Given the description of an element on the screen output the (x, y) to click on. 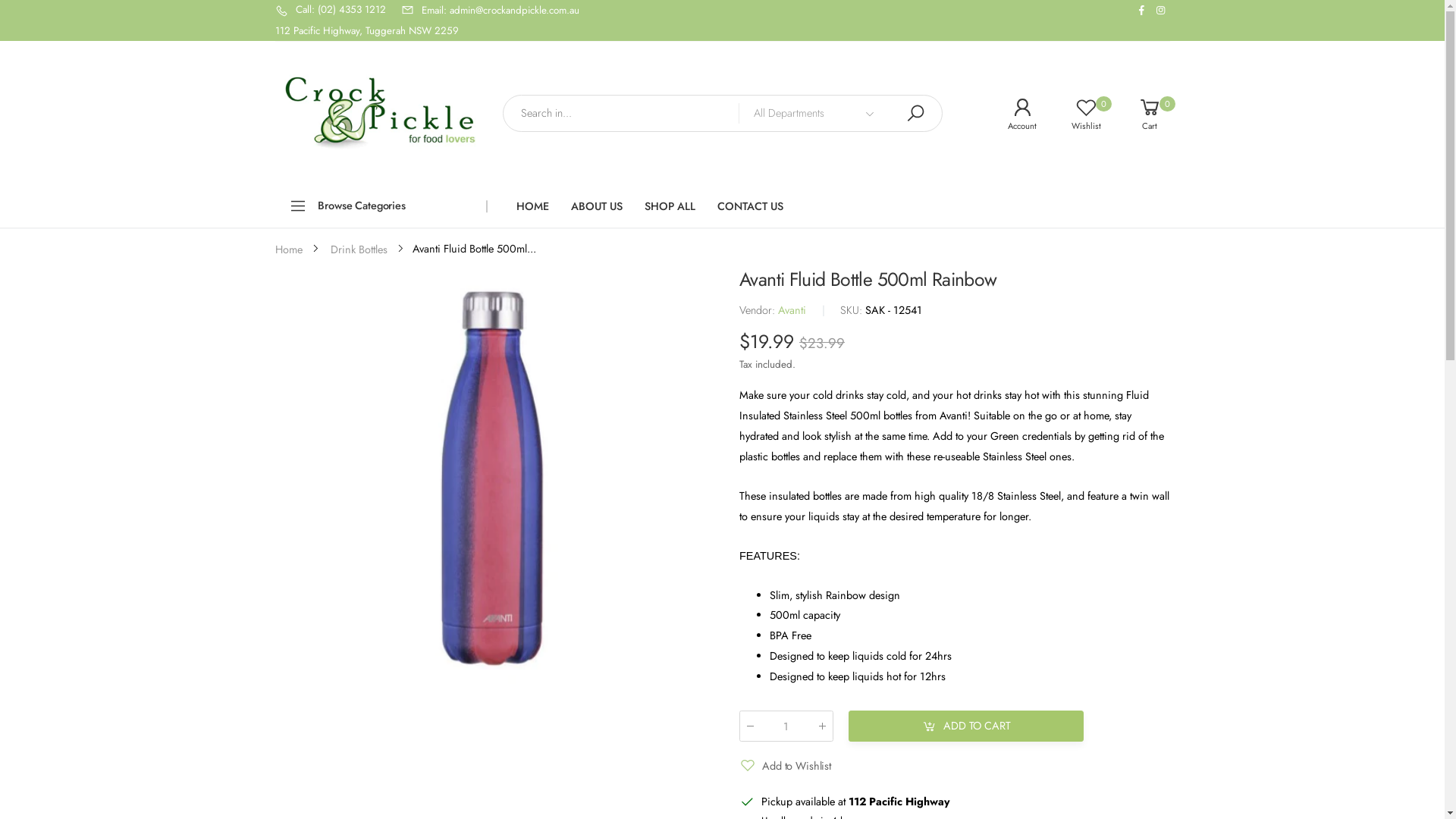
Browse Categories Element type: text (380, 206)
0
Wishlist Element type: text (1074, 113)
SHOP ALL Element type: text (669, 206)
Call: (02) 4353 1212 Element type: text (329, 10)
Crock and Pickle on Facebook Element type: hover (1141, 10)
CONTACT US Element type: text (750, 206)
112 Pacific Highway, Tuggerah NSW 2259 Element type: text (366, 30)
HOME Element type: text (532, 206)
ABOUT US Element type: text (596, 206)
0
Cart Element type: text (1138, 113)
Drink Bottles Element type: text (358, 248)
Email: admin@crockandpickle.com.au Element type: text (489, 10)
Home Element type: text (287, 248)
Crock and Pickle on Instagram Element type: hover (1159, 10)
ADD TO CART Element type: text (965, 725)
Avanti Element type: text (792, 309)
Account Element type: text (1010, 113)
